Given the description of an element on the screen output the (x, y) to click on. 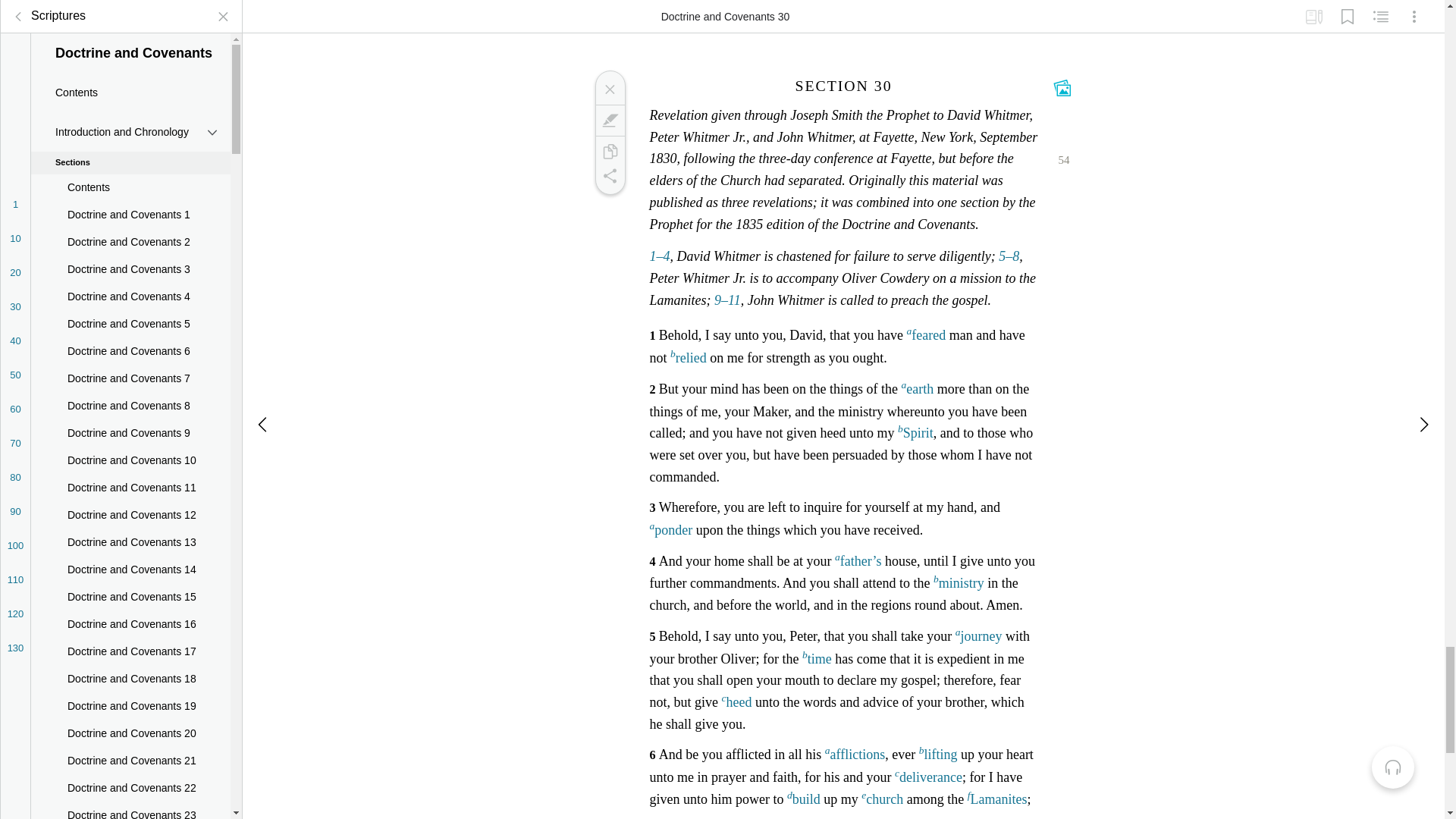
Contents (130, 80)
Doctrine and Covenants 14 (130, 558)
Close (608, 88)
Doctrine and Covenants 6 (130, 339)
Bookmarks (1347, 11)
Doctrine and Covenants 7 (130, 367)
Table of Contents (17, 8)
Doctrine and Covenants 20 (130, 722)
90 (15, 499)
Doctrine and Covenants 18 (130, 667)
10 (15, 227)
50 (15, 363)
110 (15, 568)
Scriptures (46, 8)
Doctrine and Covenants 15 (130, 585)
